Given the description of an element on the screen output the (x, y) to click on. 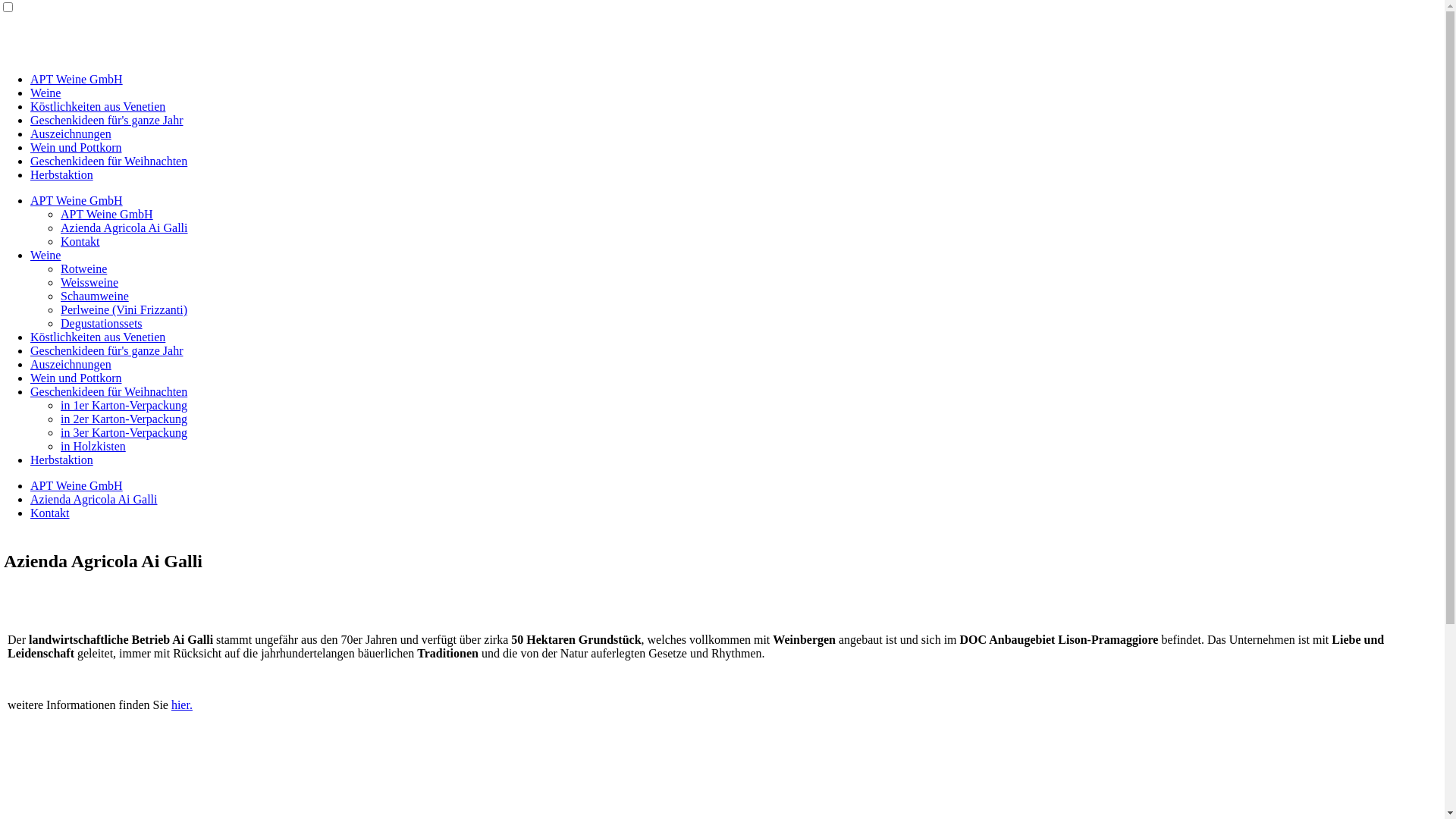
in 3er Karton-Verpackung Element type: text (123, 432)
Weissweine Element type: text (89, 282)
APT Weine GmbH Element type: text (76, 78)
Herbstaktion Element type: text (61, 174)
hier. Element type: text (181, 704)
Perlweine (Vini Frizzanti) Element type: text (123, 309)
Weine Element type: text (45, 254)
Wein und Pottkorn Element type: text (75, 377)
Wein und Pottkorn Element type: text (75, 147)
Kontakt Element type: text (49, 512)
in 2er Karton-Verpackung Element type: text (123, 418)
APT Weine GmbH Element type: text (76, 200)
Degustationssets Element type: text (101, 322)
Azienda Agricola Ai Galli Element type: text (93, 498)
Herbstaktion Element type: text (61, 459)
Auszeichnungen Element type: text (70, 133)
Schaumweine Element type: text (94, 295)
Weine Element type: text (45, 92)
Kontakt Element type: text (80, 241)
APT Weine GmbH Element type: text (106, 213)
APT Weine GmbH Element type: text (76, 485)
Auszeichnungen Element type: text (70, 363)
in Holzkisten Element type: text (92, 445)
Azienda Agricola Ai Galli Element type: text (124, 227)
in 1er Karton-Verpackung Element type: text (123, 404)
Rotweine Element type: text (83, 268)
